Given the description of an element on the screen output the (x, y) to click on. 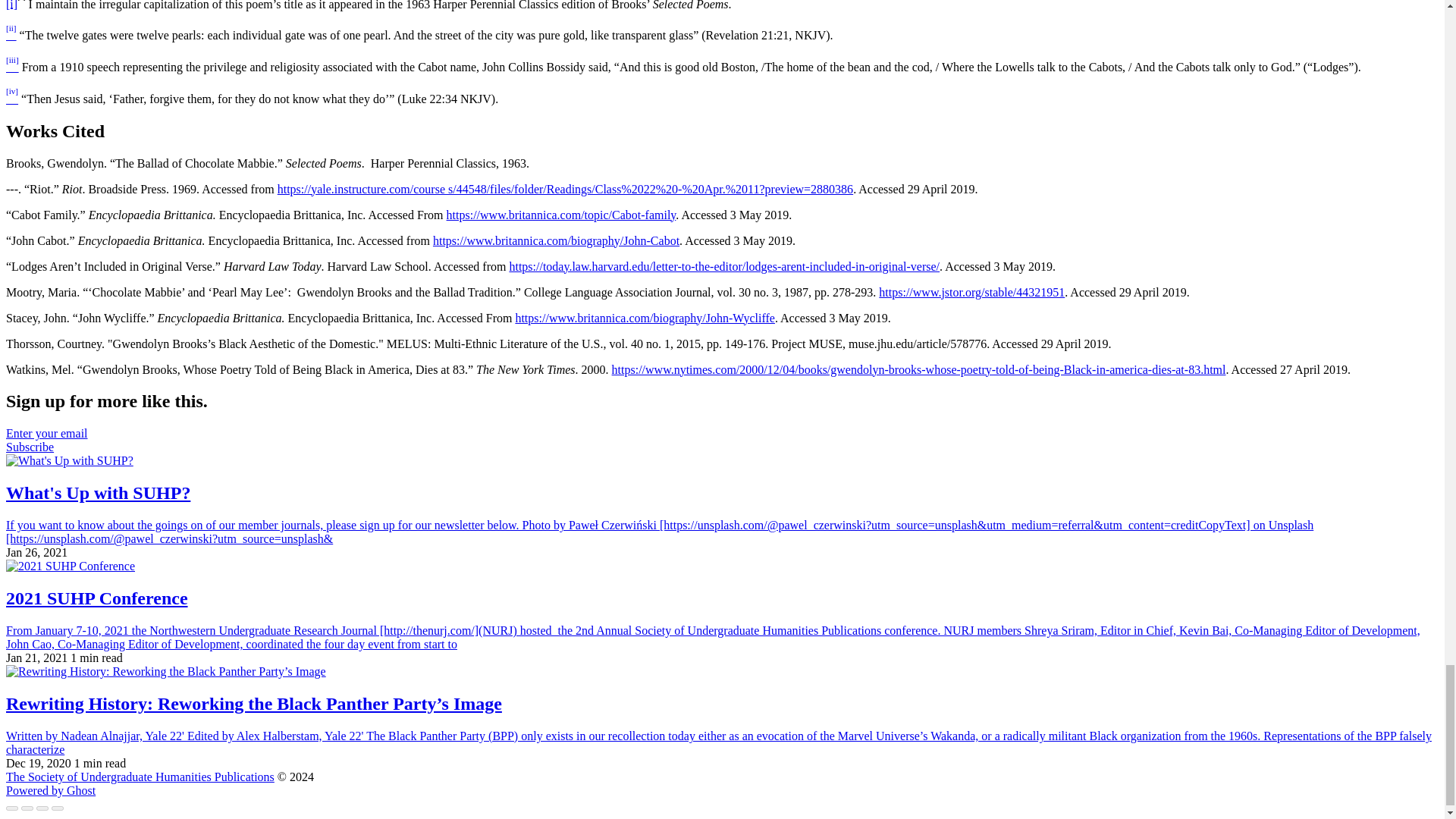
Share (27, 807)
The Society of Undergraduate Humanities Publications (140, 776)
Powered by Ghost (50, 789)
Toggle fullscreen (42, 807)
